Given the description of an element on the screen output the (x, y) to click on. 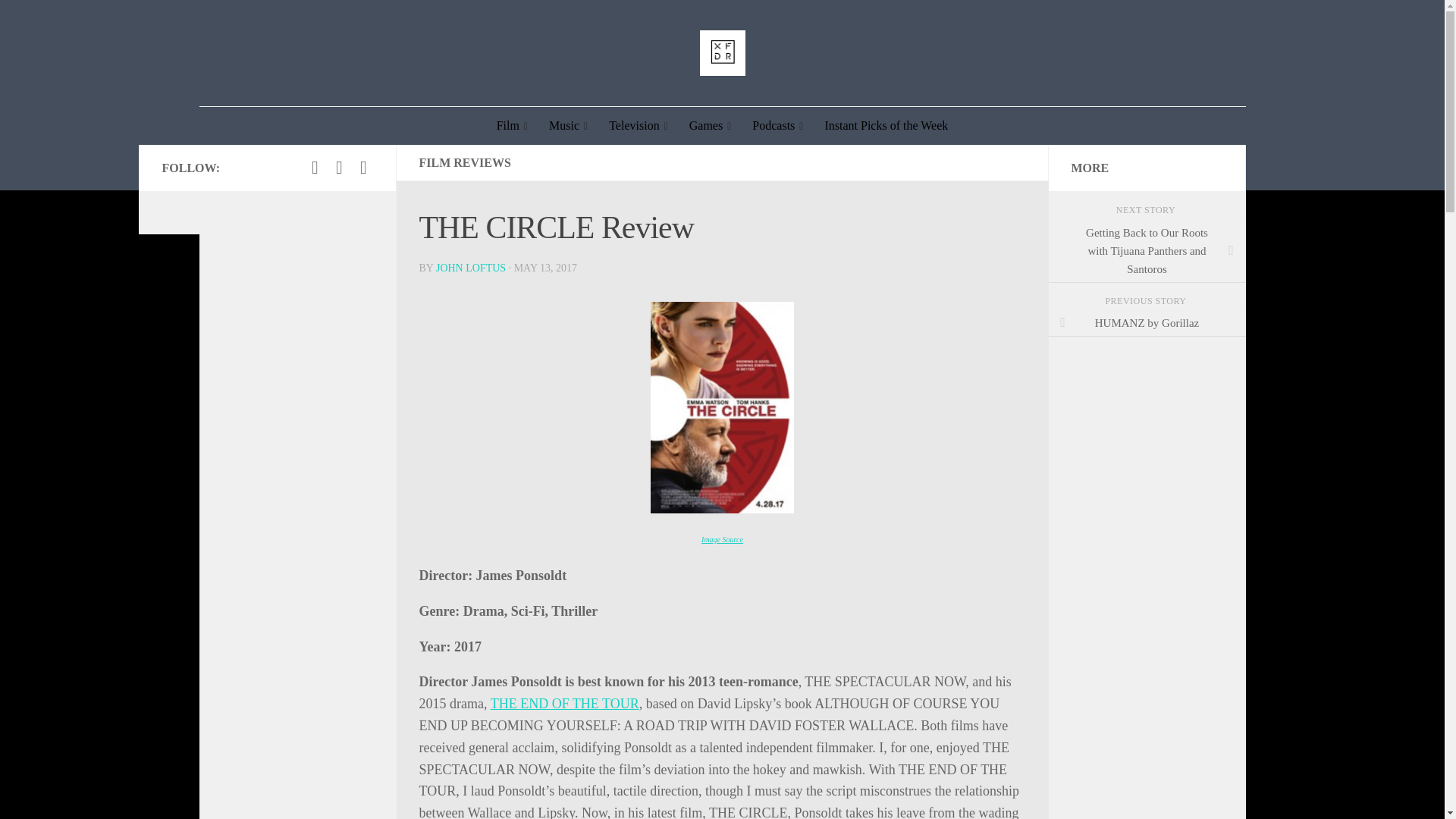
Music (568, 125)
Skip to content (59, 20)
Film (512, 125)
Twitter (339, 167)
Spotify (363, 167)
Posts by John Loftus (470, 267)
Facebook (314, 167)
